Given the description of an element on the screen output the (x, y) to click on. 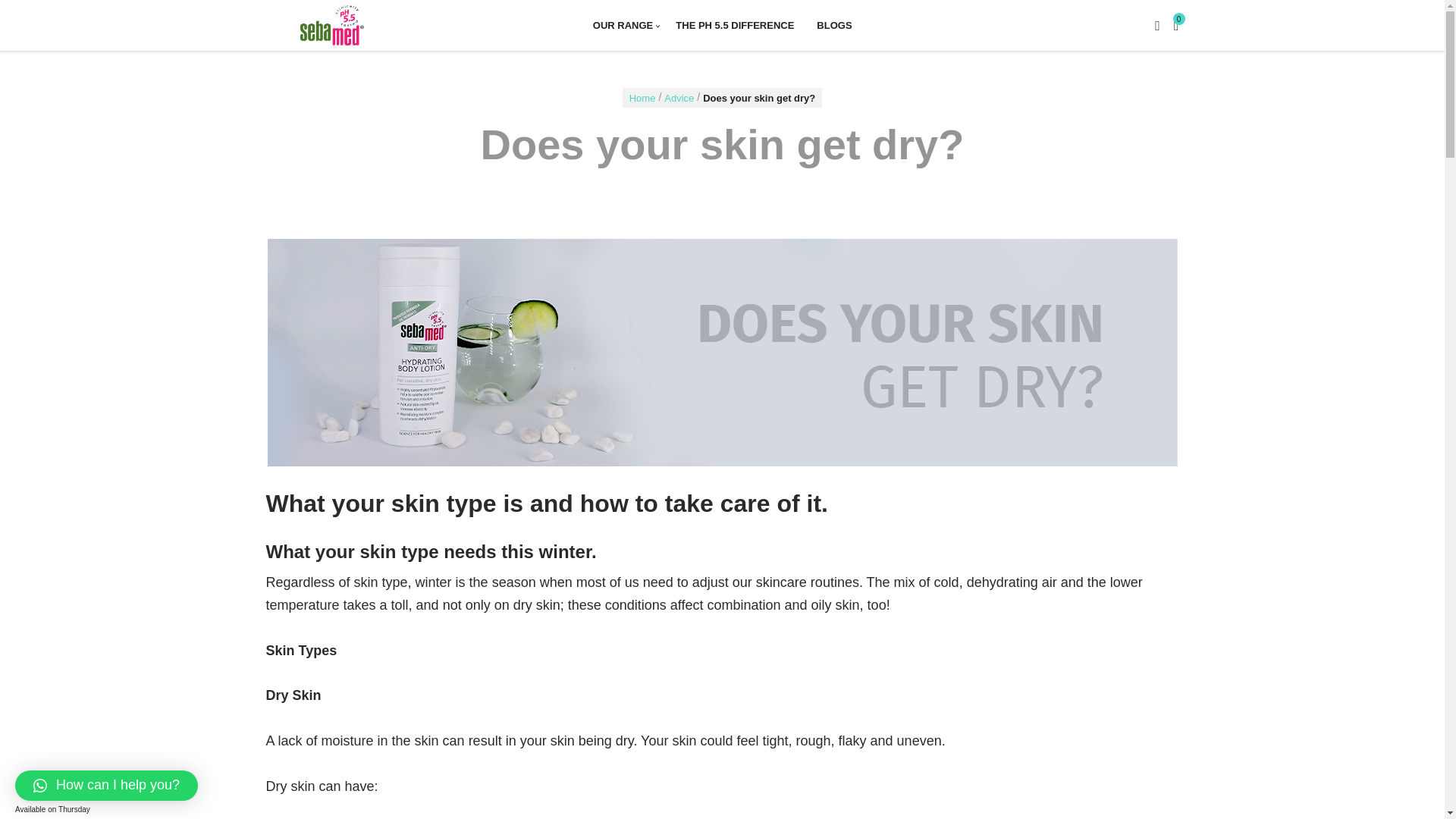
BLOGS (833, 25)
OUR RANGE (622, 25)
Products Compare (1176, 24)
0 (1176, 24)
THE PH 5.5 DIFFERENCE (734, 25)
SebaMed (359, 24)
